Given the description of an element on the screen output the (x, y) to click on. 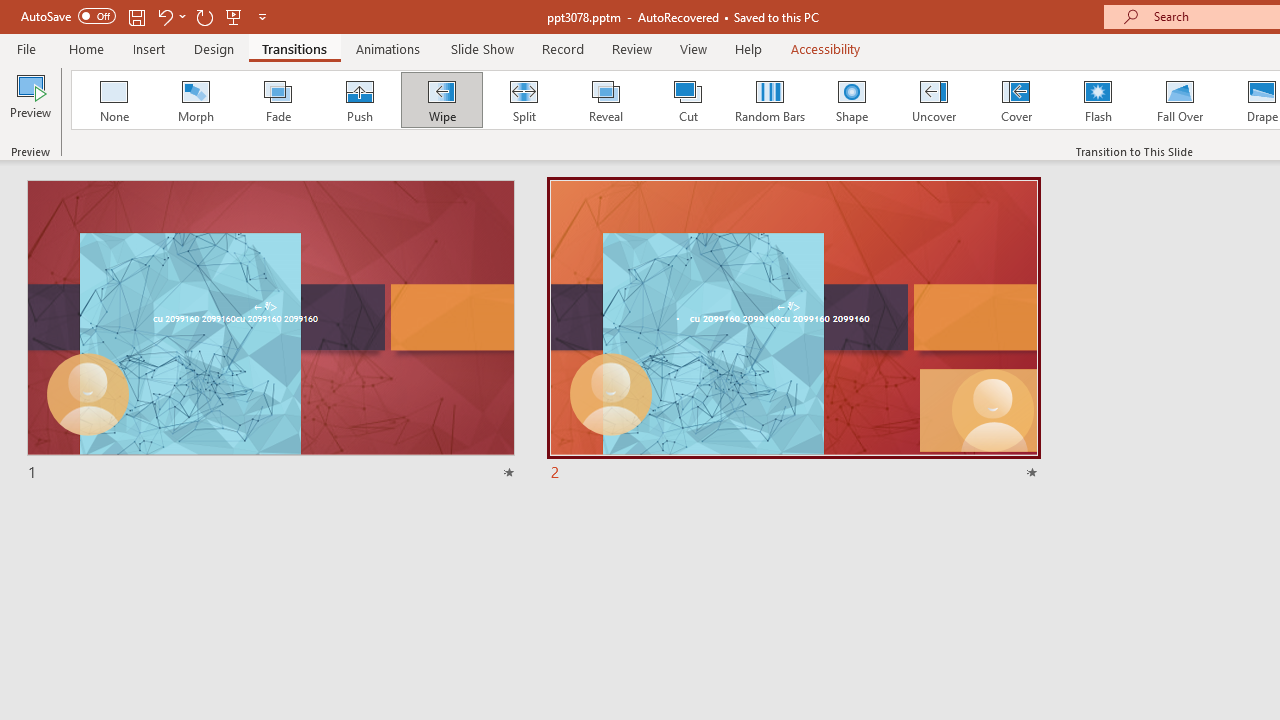
Morph (195, 100)
Fall Over (1180, 100)
